Given the description of an element on the screen output the (x, y) to click on. 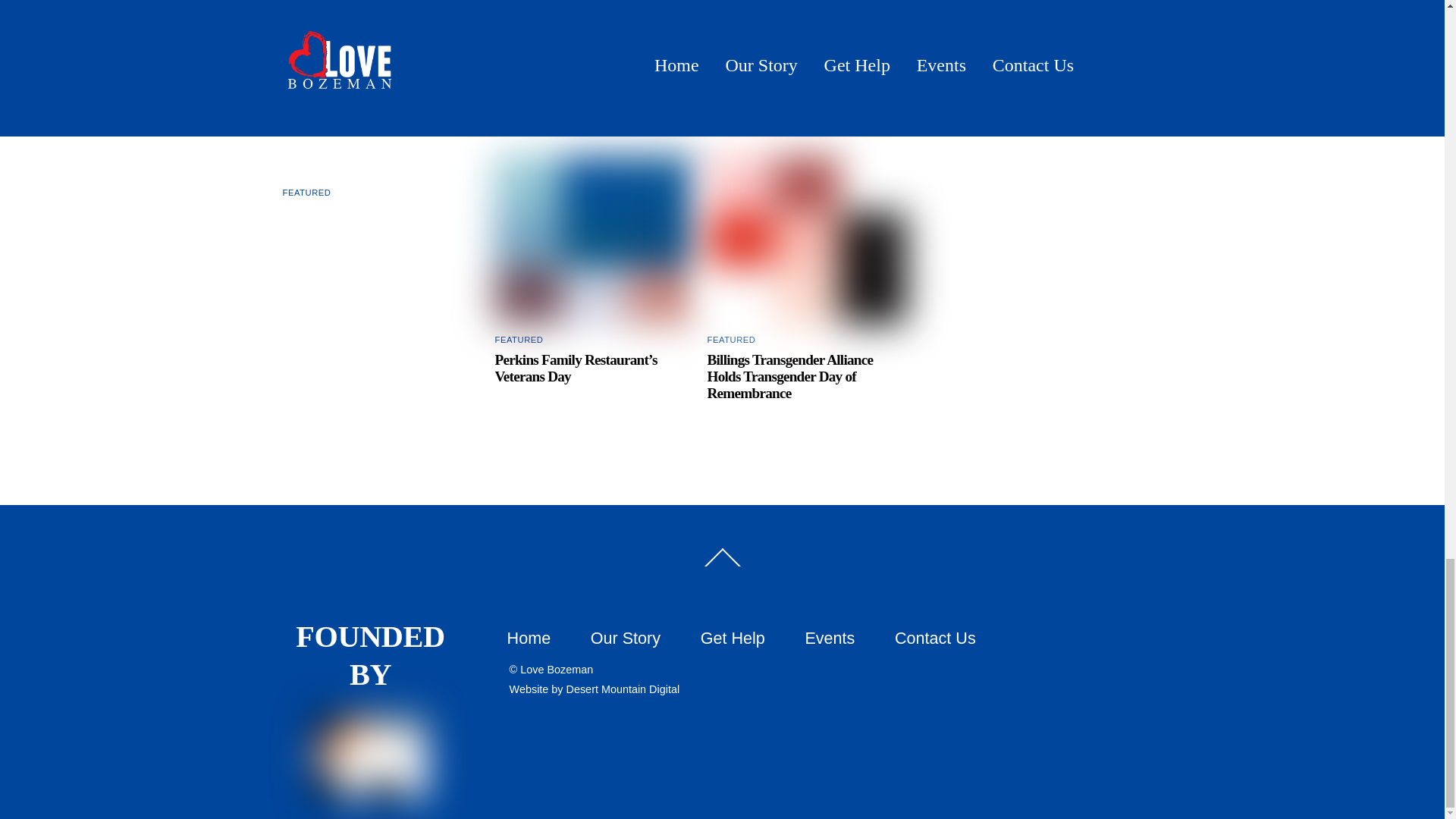
Digital Marketing in Billings Montana (622, 689)
LOVE-Billings-Logo (807, 239)
Get Help (732, 639)
Our Story (625, 639)
Home (529, 639)
DMBLogo200White (371, 757)
Love Billings 2 (595, 239)
Events (829, 639)
FEATURED (731, 338)
